Given the description of an element on the screen output the (x, y) to click on. 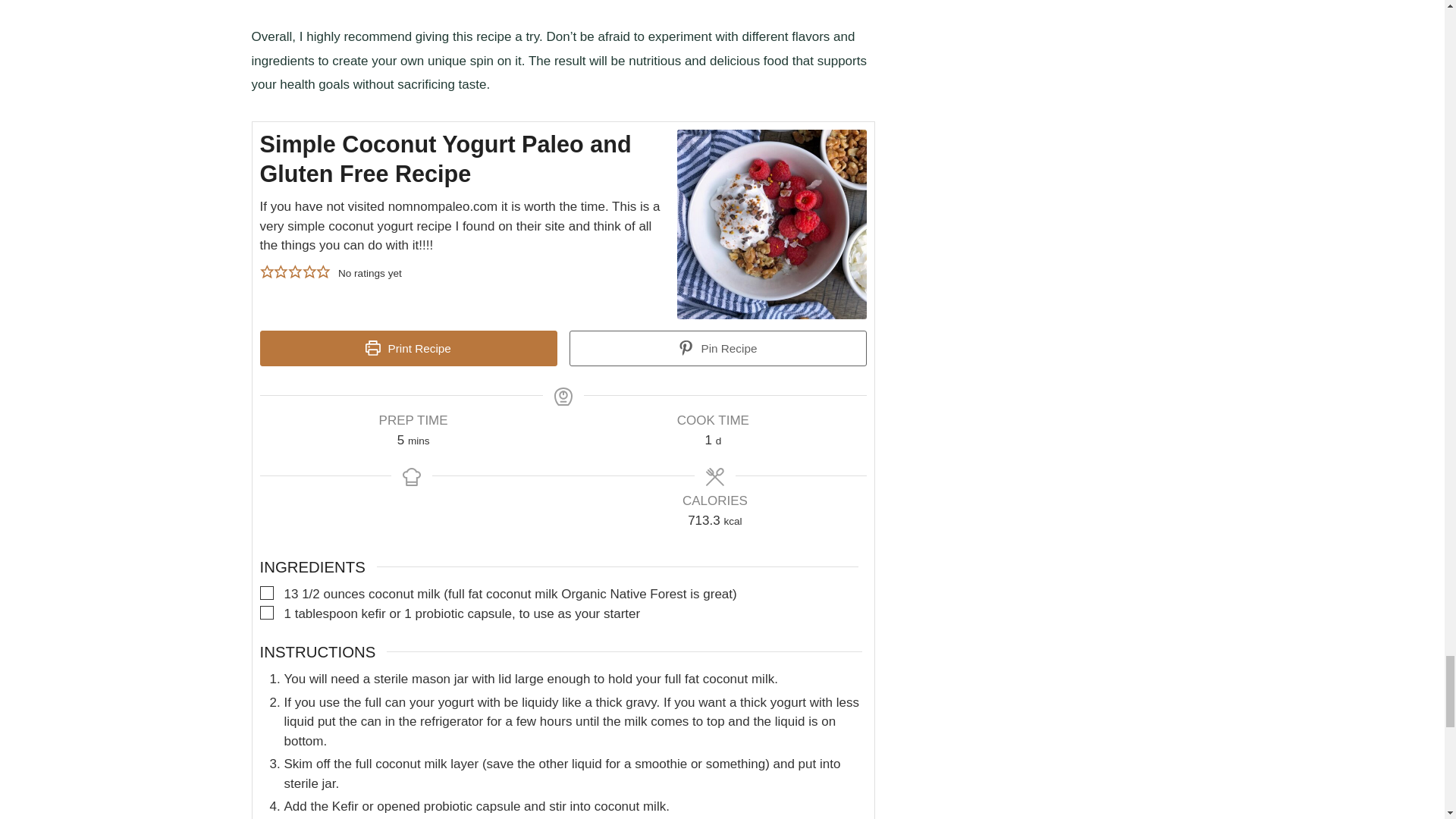
Pin Recipe (717, 348)
Print Recipe (407, 348)
